Given the description of an element on the screen output the (x, y) to click on. 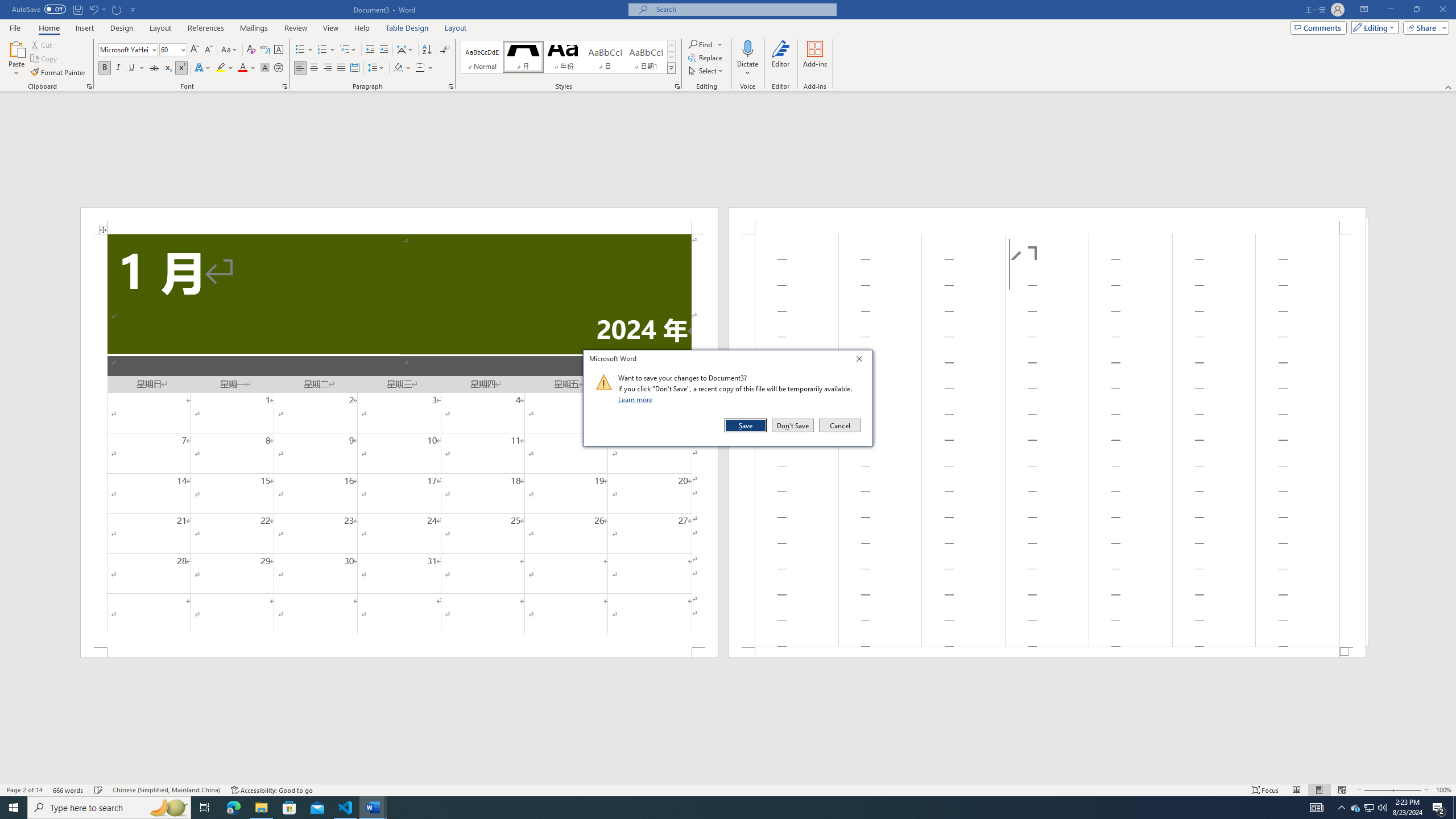
Don't Save (792, 425)
Running applications (717, 807)
